Given the description of an element on the screen output the (x, y) to click on. 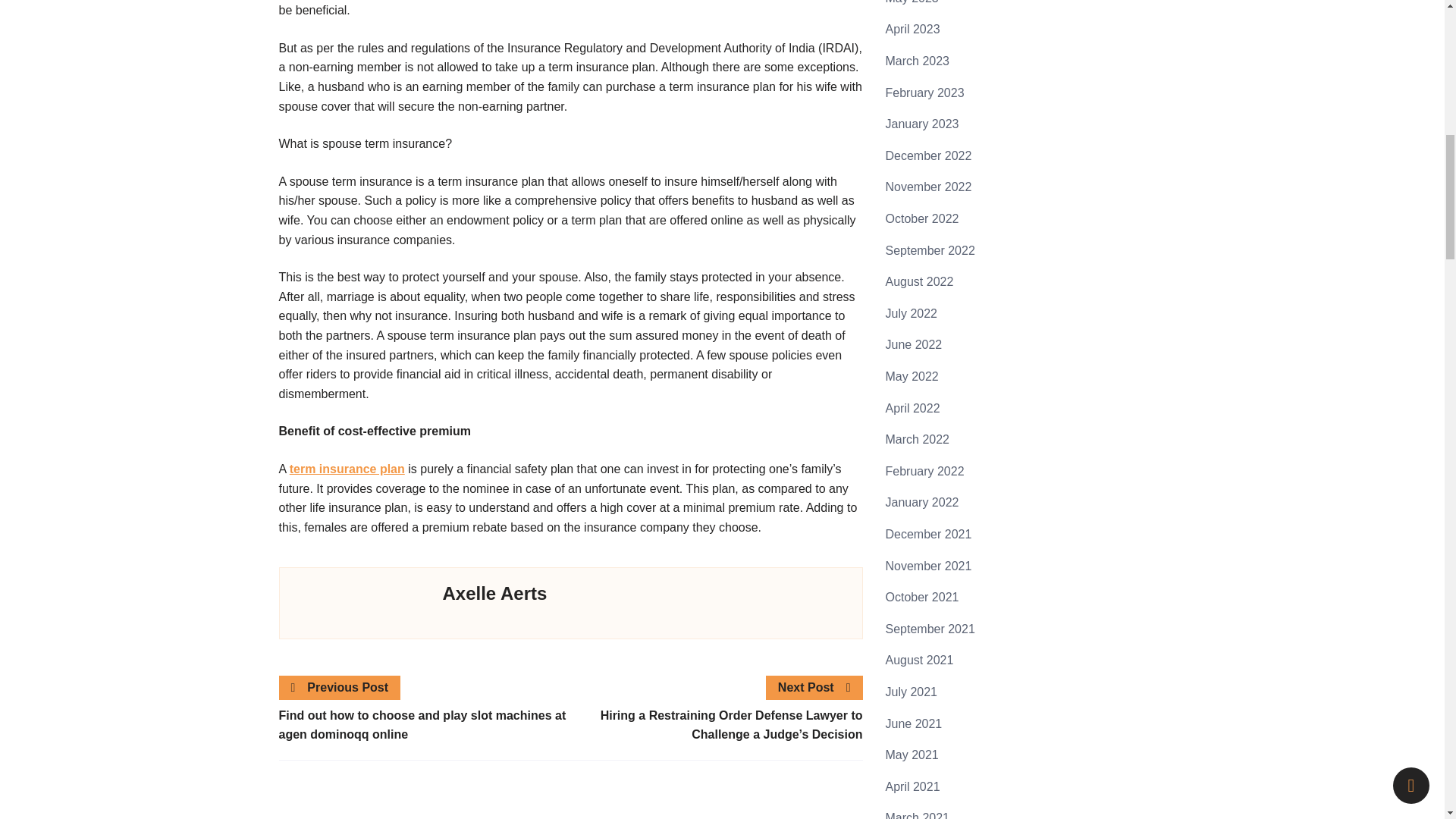
Next Post (813, 687)
Previous Post (339, 687)
term insurance plan (346, 468)
